Given the description of an element on the screen output the (x, y) to click on. 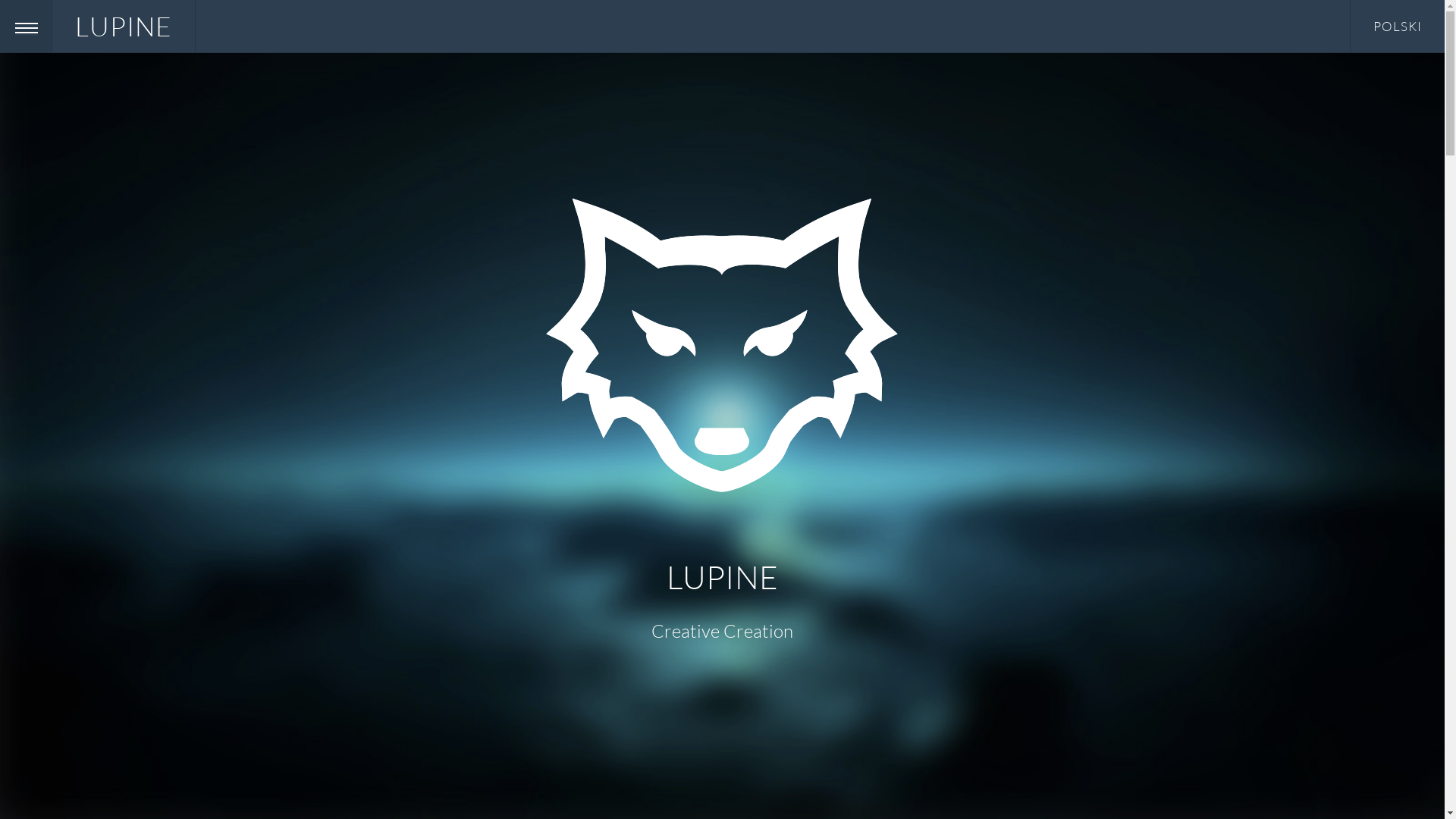
LUPINE Element type: text (123, 26)
POLSKI Element type: text (1397, 26)
